Given the description of an element on the screen output the (x, y) to click on. 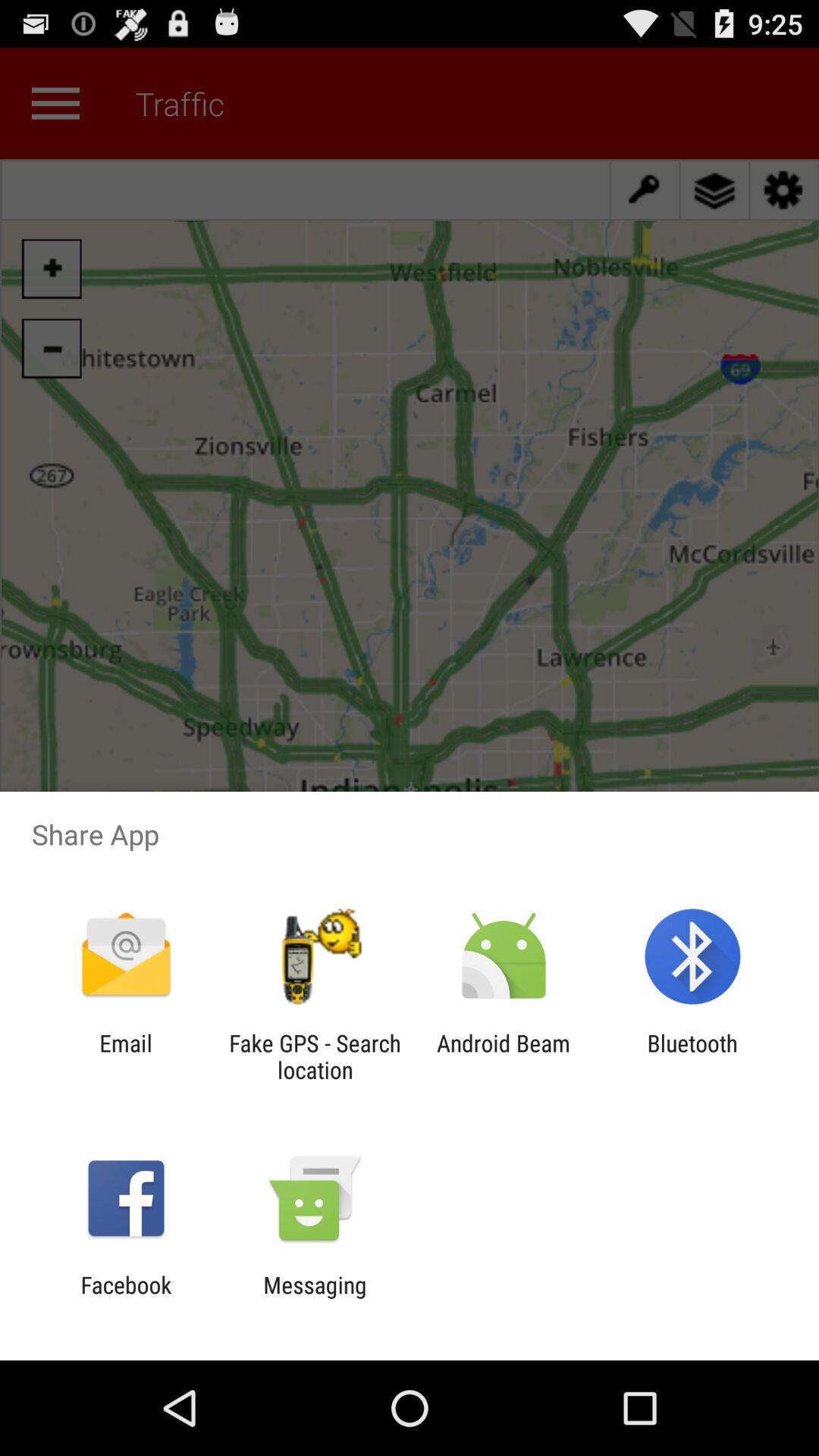
open the app to the left of the bluetooth icon (503, 1056)
